Given the description of an element on the screen output the (x, y) to click on. 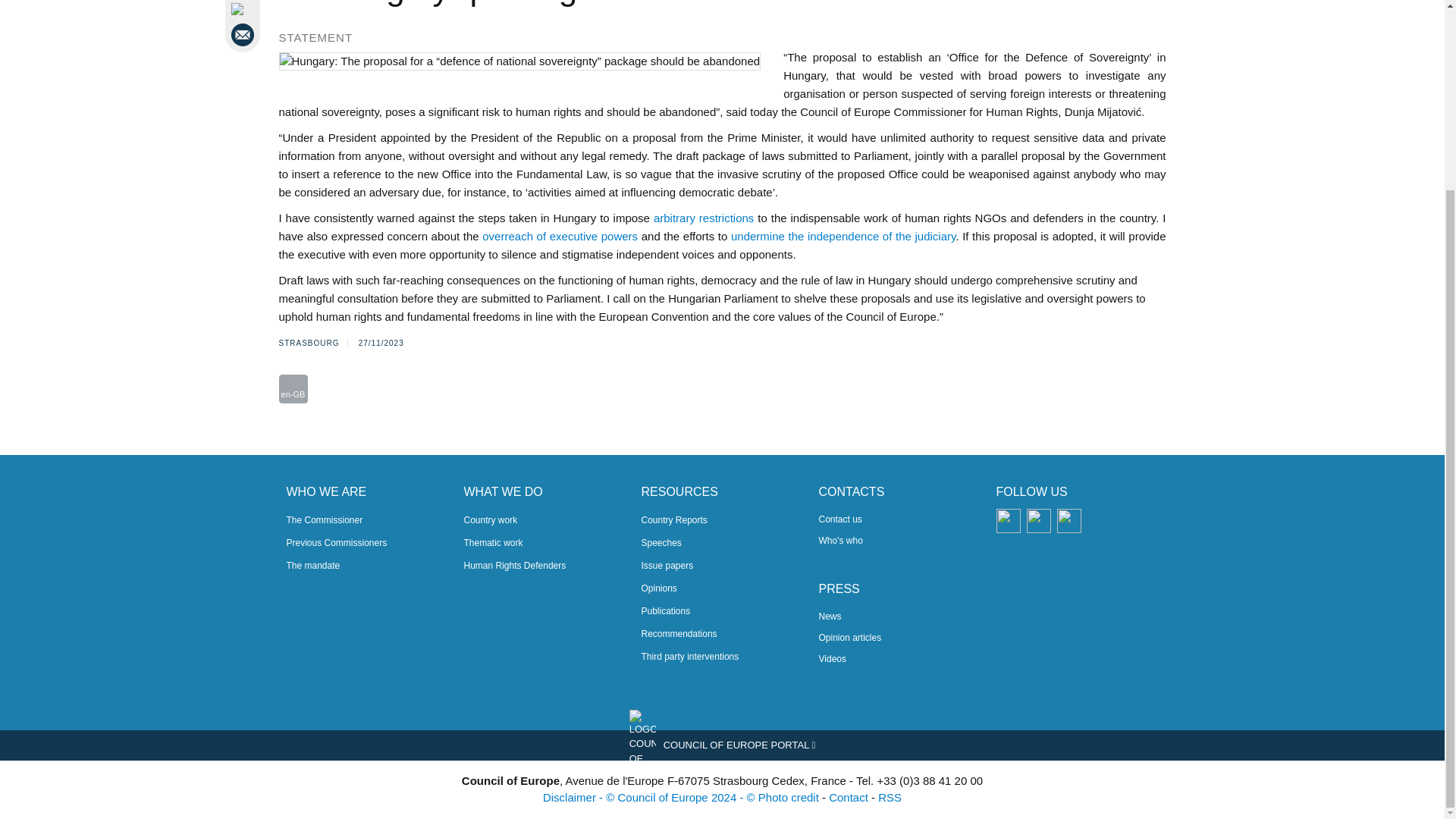
Acties (293, 388)
Send this page (244, 34)
Share on Linkedin (244, 8)
